Given the description of an element on the screen output the (x, y) to click on. 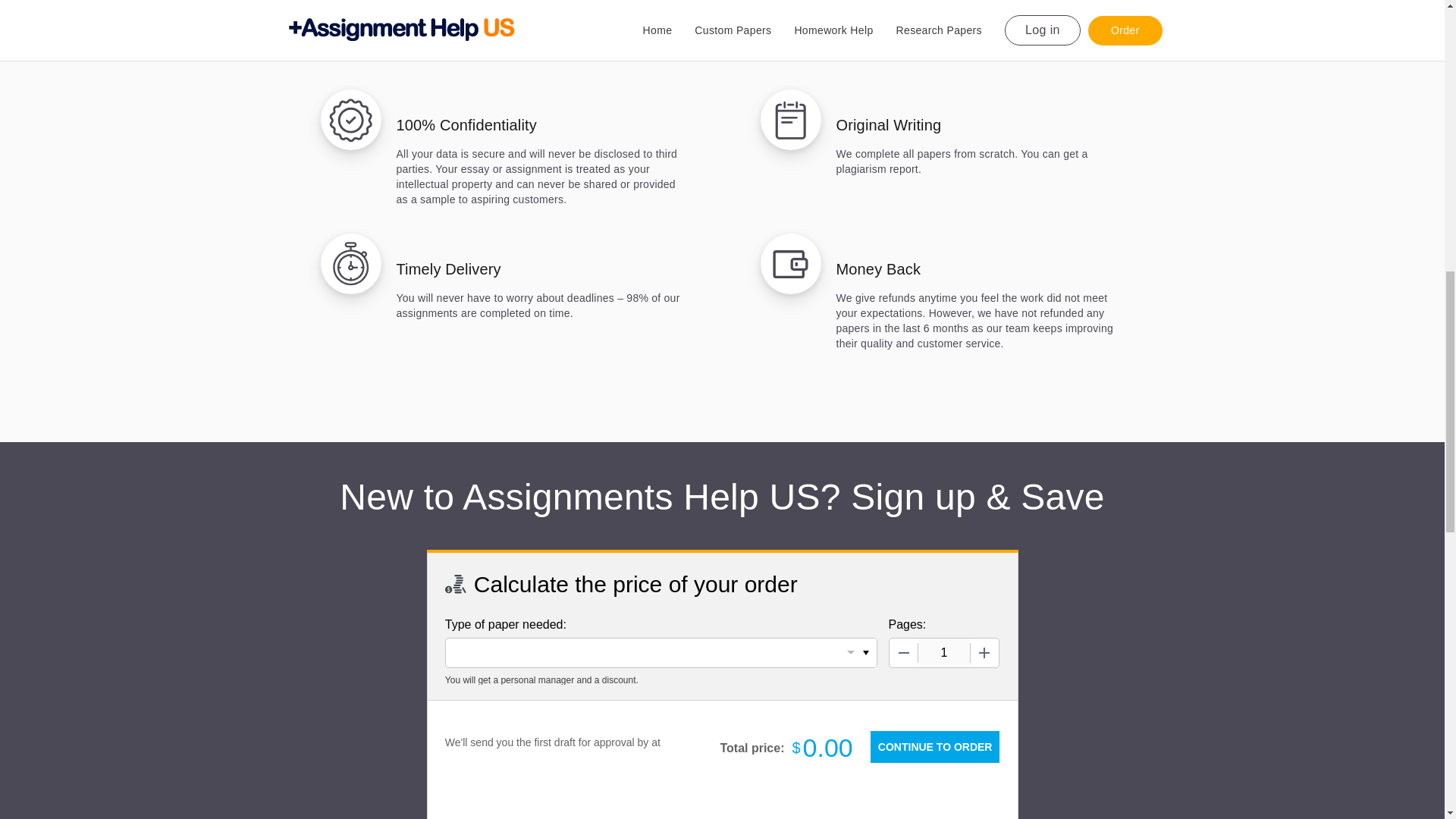
Continue to Order (934, 746)
Continue to order (934, 746)
Continue to order (934, 746)
1 (943, 652)
Decrease (902, 652)
Increase (983, 652)
